Given the description of an element on the screen output the (x, y) to click on. 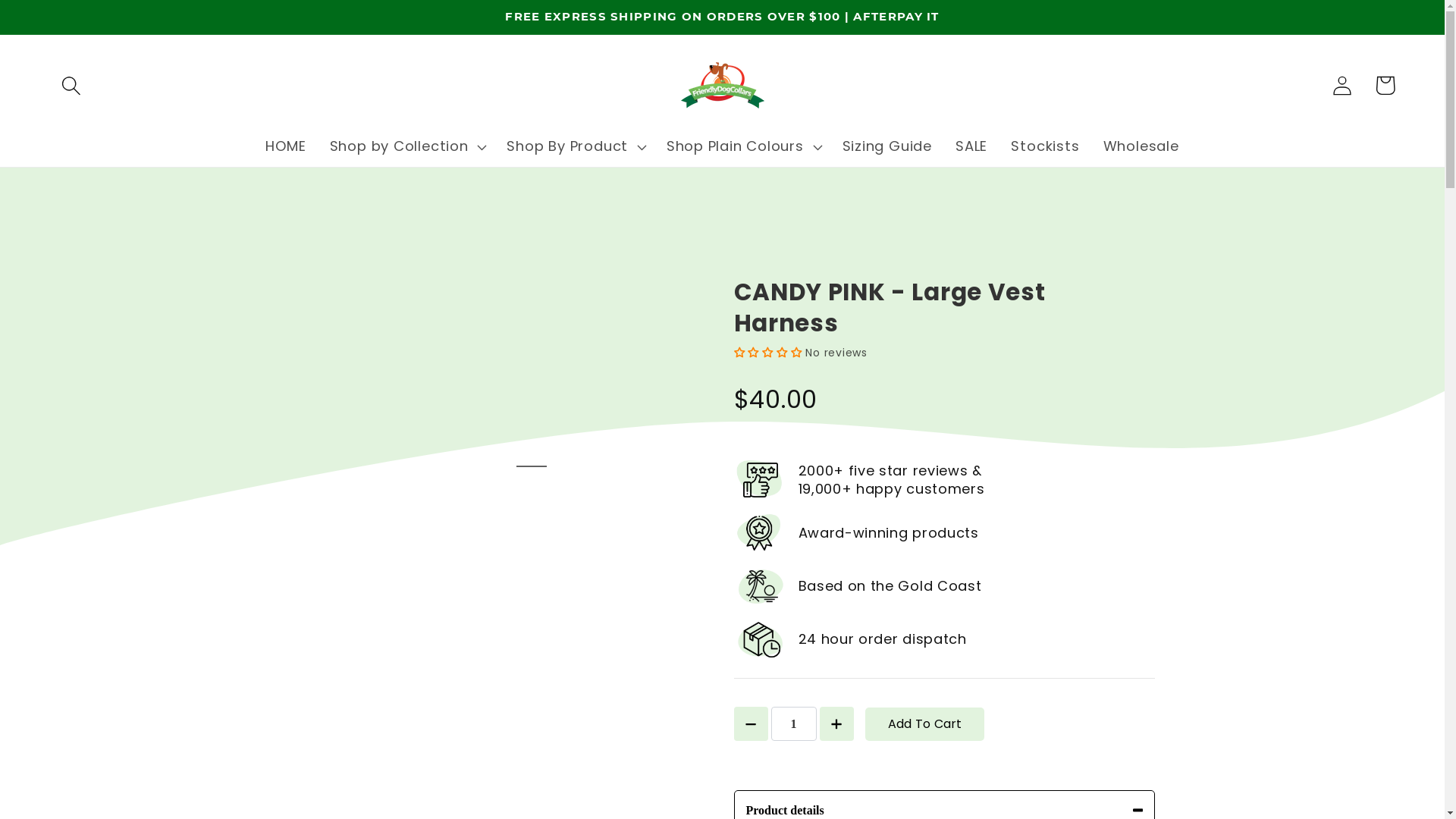
Cart Element type: text (1384, 84)
Log in Element type: text (1341, 84)
Add To Cart Element type: text (923, 723)
HOME Element type: text (285, 146)
Wholesale Element type: text (1140, 146)
Stockists Element type: text (1045, 146)
SALE Element type: text (970, 146)
Sizing Guide Element type: text (887, 146)
